Given the description of an element on the screen output the (x, y) to click on. 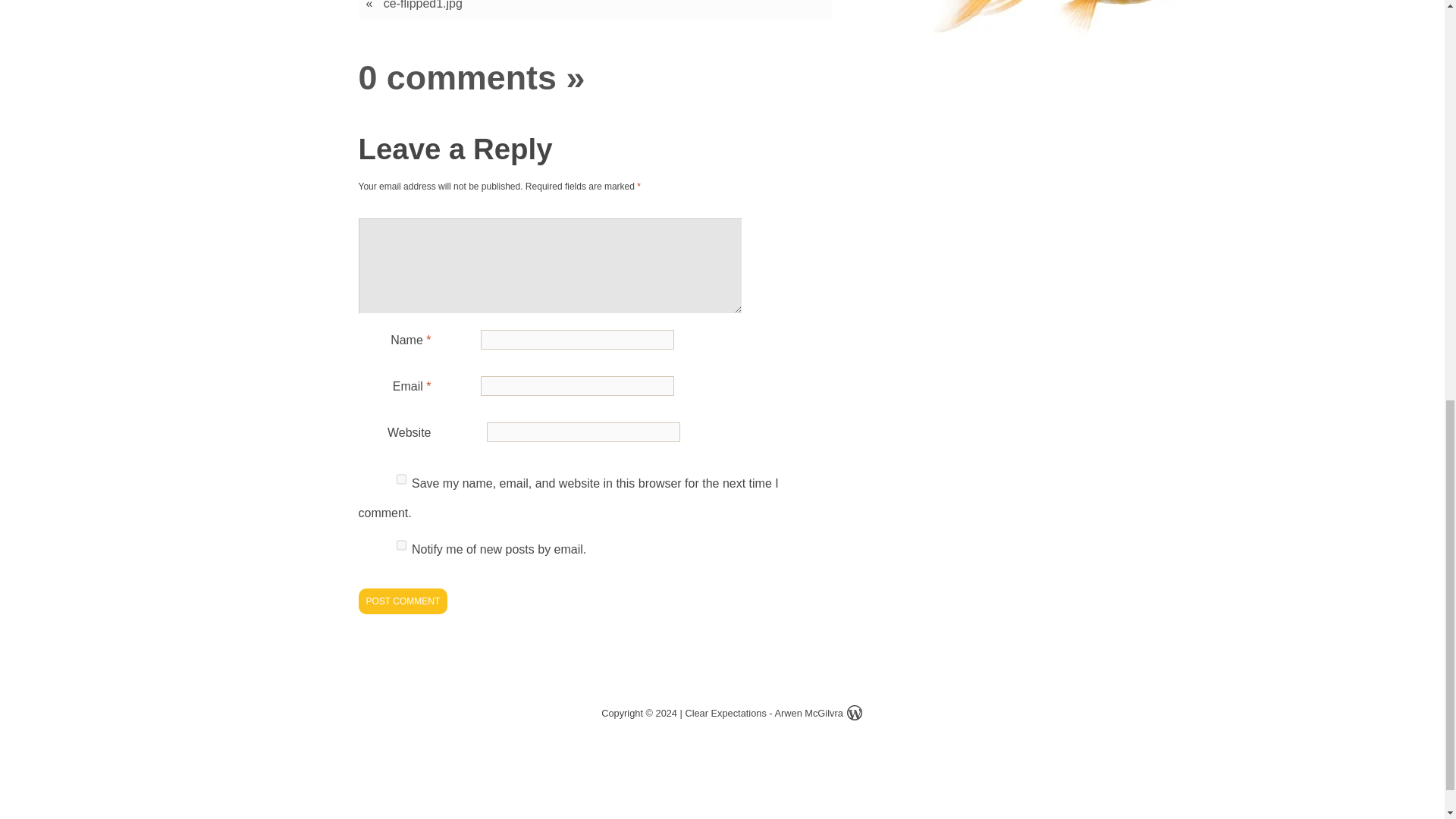
0 comments (457, 77)
Post Comment (402, 601)
ce-flipped1.jpg (422, 6)
Post Comment (402, 601)
